Given the description of an element on the screen output the (x, y) to click on. 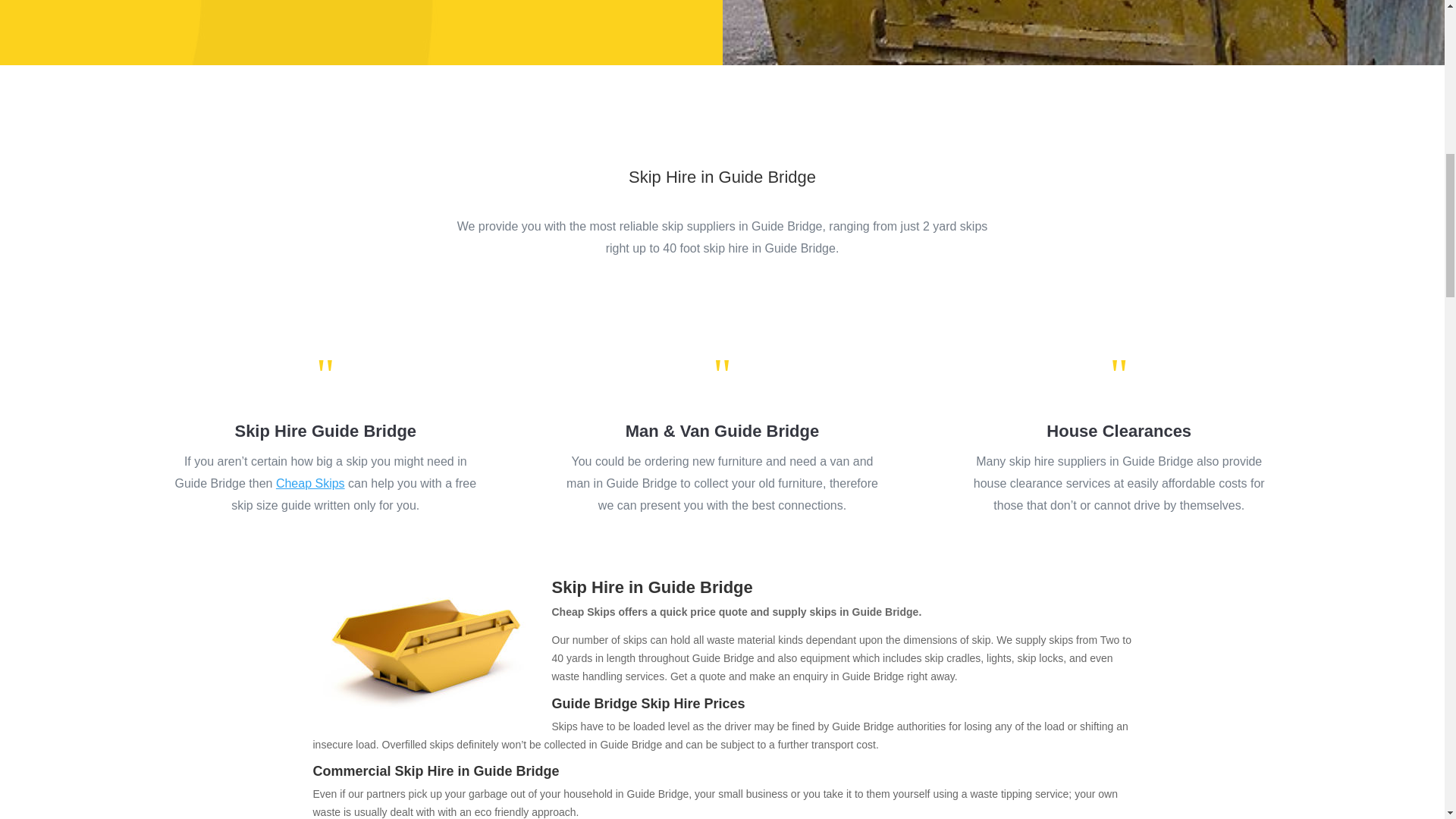
Cheap Skips (310, 482)
Cheap Skips in Guide Bridge (426, 650)
